Given the description of an element on the screen output the (x, y) to click on. 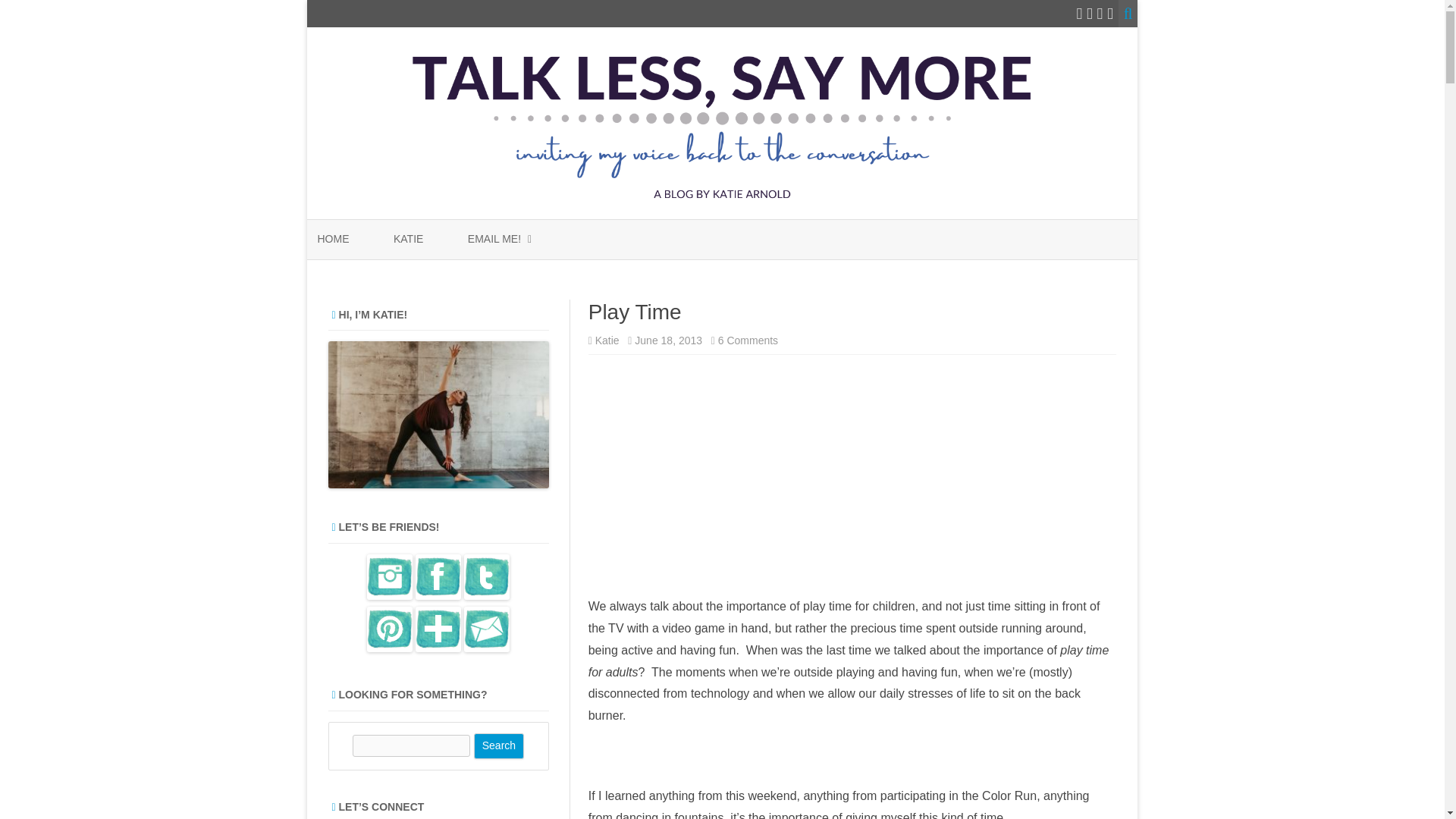
Katie (607, 340)
DISCLOSURE POLICY (543, 274)
EMAIL ME! (494, 239)
Advertisement (852, 479)
Skip to content (747, 340)
